Given the description of an element on the screen output the (x, y) to click on. 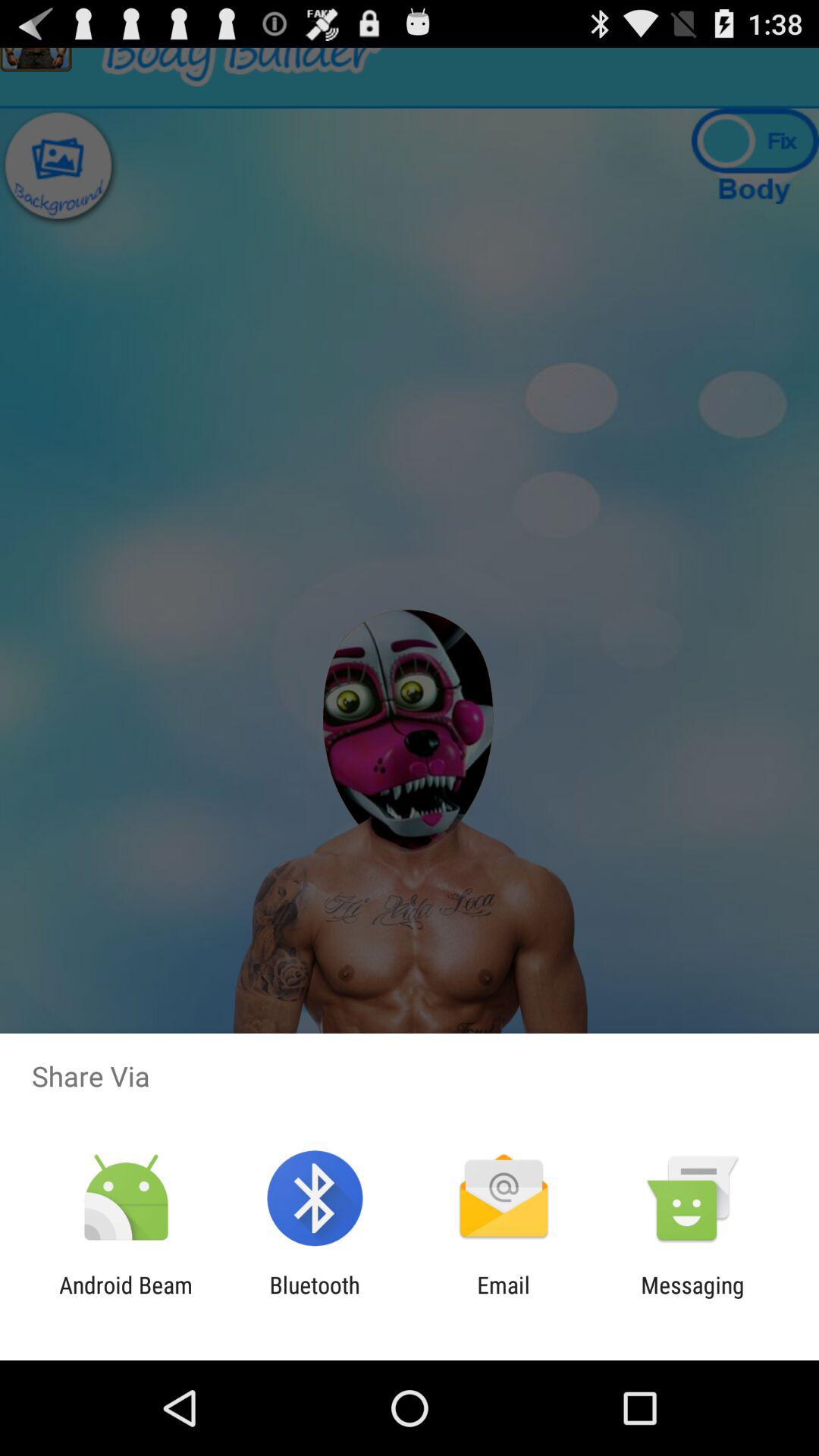
select the icon next to android beam app (314, 1298)
